Given the description of an element on the screen output the (x, y) to click on. 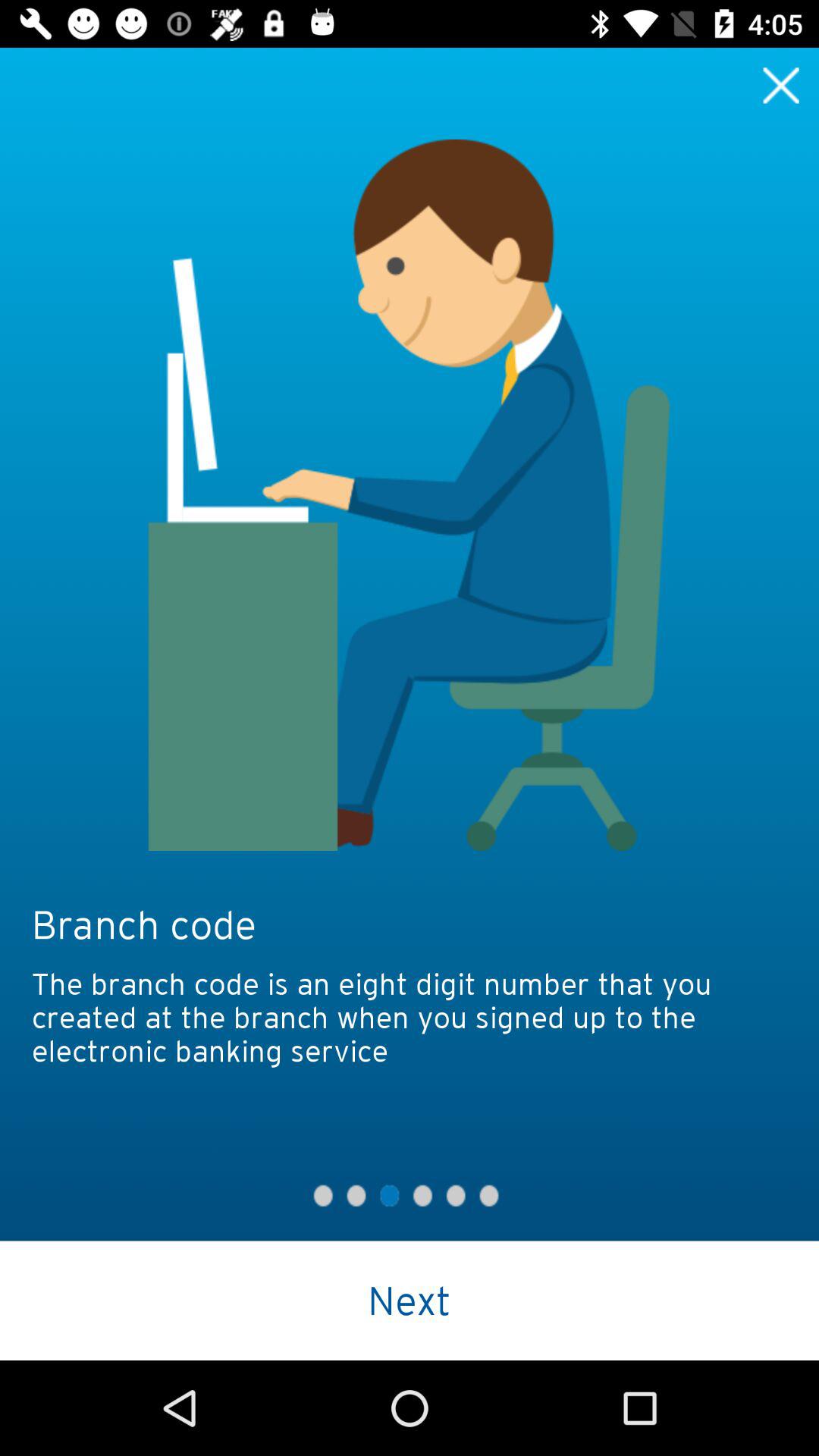
toggle close the page option (781, 85)
